Given the description of an element on the screen output the (x, y) to click on. 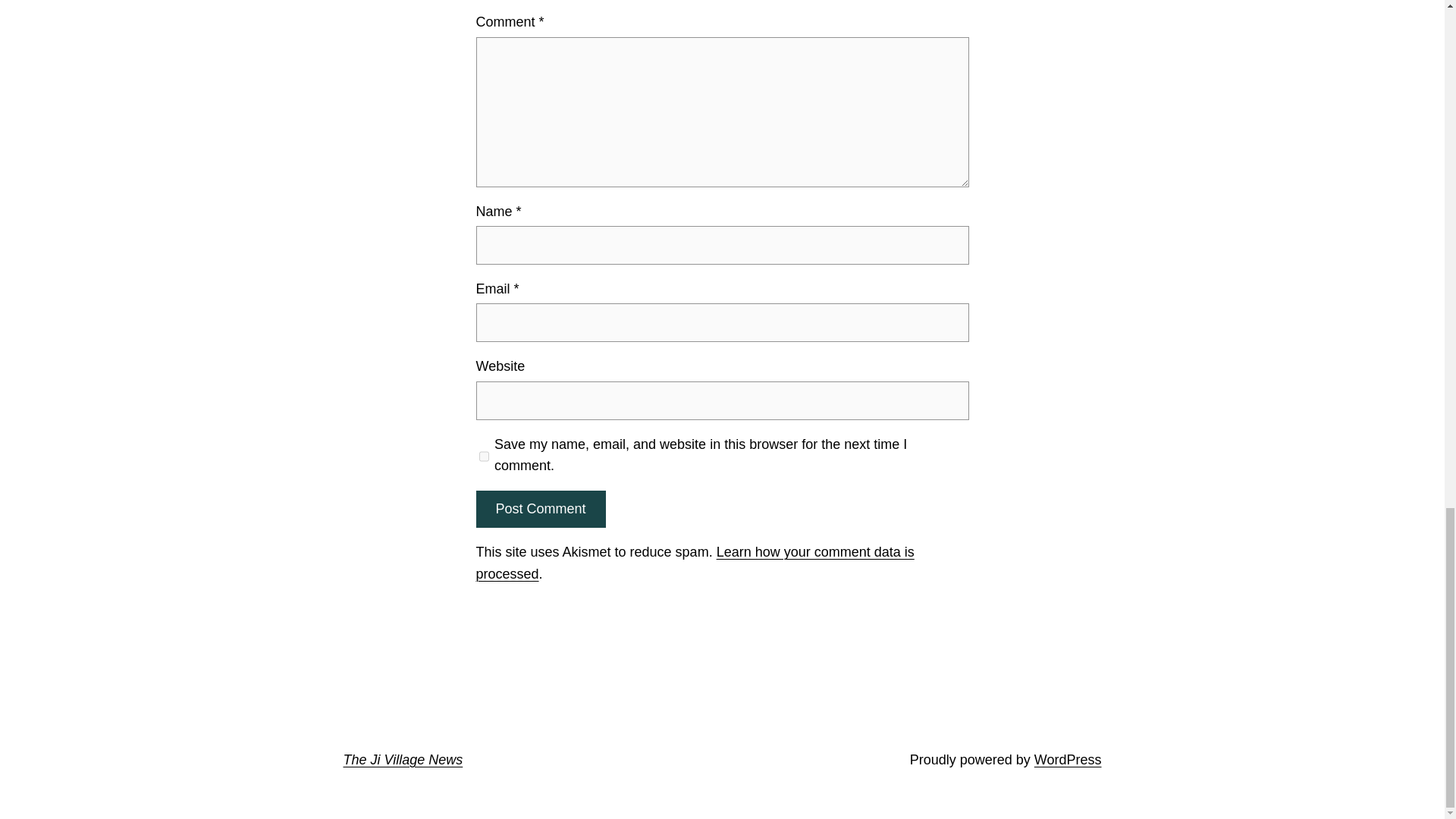
Learn how your comment data is processed (695, 562)
The Ji Village News (402, 759)
Post Comment (540, 508)
WordPress (1067, 759)
Post Comment (540, 508)
